Given the description of an element on the screen output the (x, y) to click on. 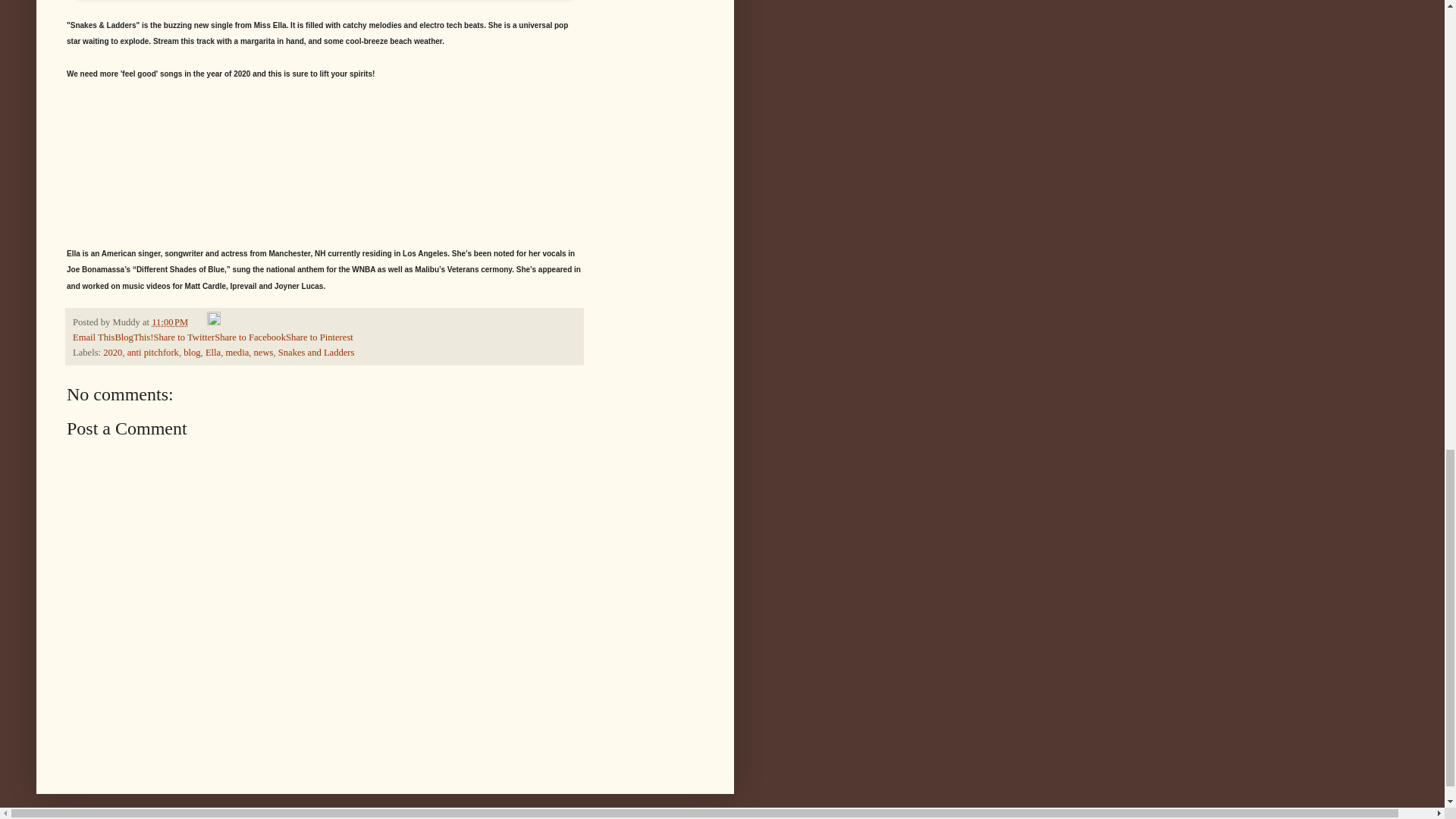
Email This (93, 337)
Email This (93, 337)
Snakes and Ladders (316, 352)
2020 (112, 352)
Share to Facebook (249, 337)
Share to Facebook (249, 337)
news (263, 352)
permanent link (169, 321)
BlogThis! (133, 337)
Email Post (198, 321)
Share to Twitter (183, 337)
blog (191, 352)
Share to Pinterest (319, 337)
media (236, 352)
